Given the description of an element on the screen output the (x, y) to click on. 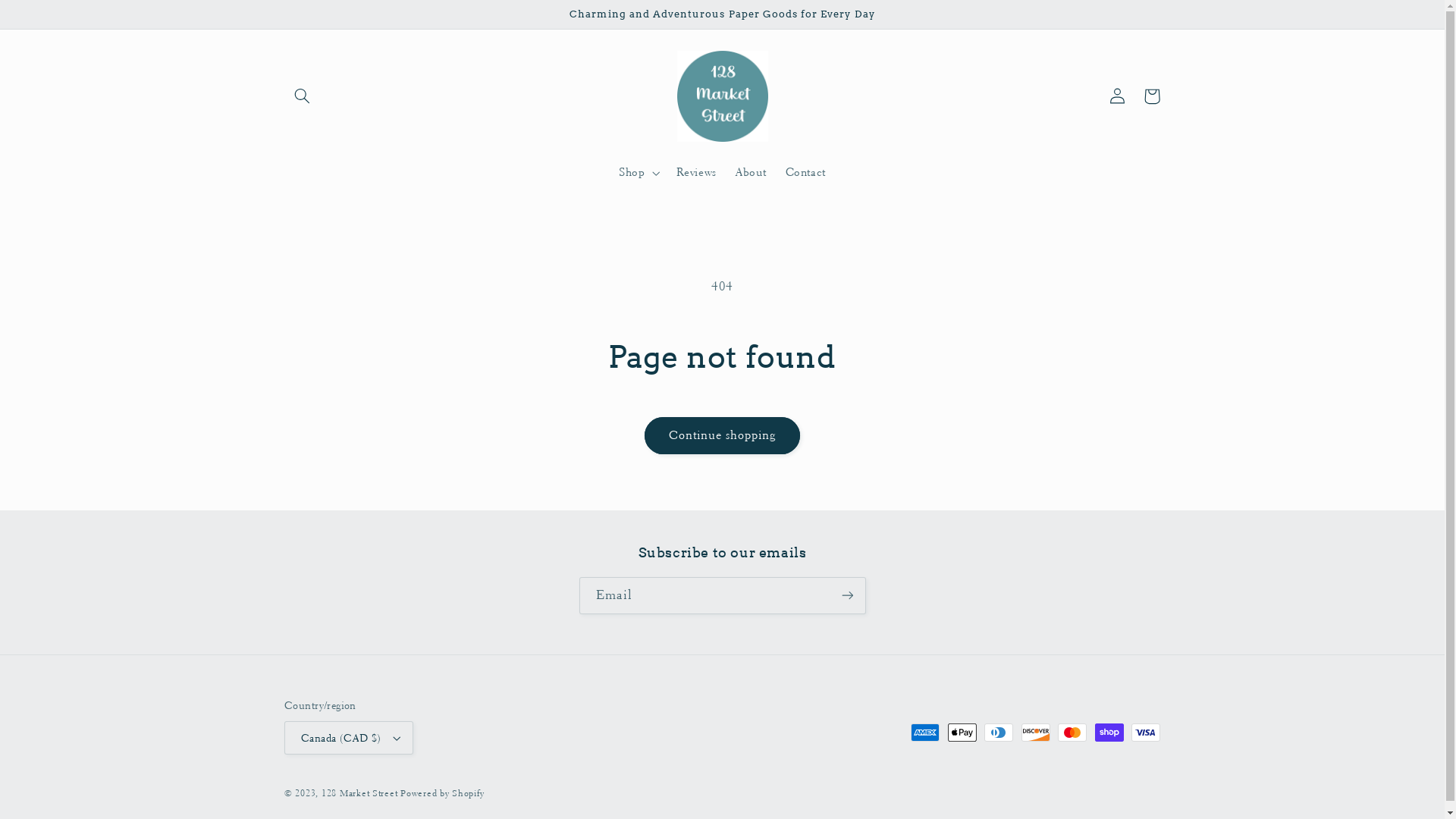
Powered by Shopify Element type: text (441, 793)
Reviews Element type: text (696, 172)
About Element type: text (750, 172)
Canada (CAD $) Element type: text (348, 737)
Cart Element type: text (1151, 95)
Continue shopping Element type: text (722, 435)
Log in Element type: text (1116, 95)
Contact Element type: text (805, 172)
128 Market Street Element type: text (359, 793)
